Given the description of an element on the screen output the (x, y) to click on. 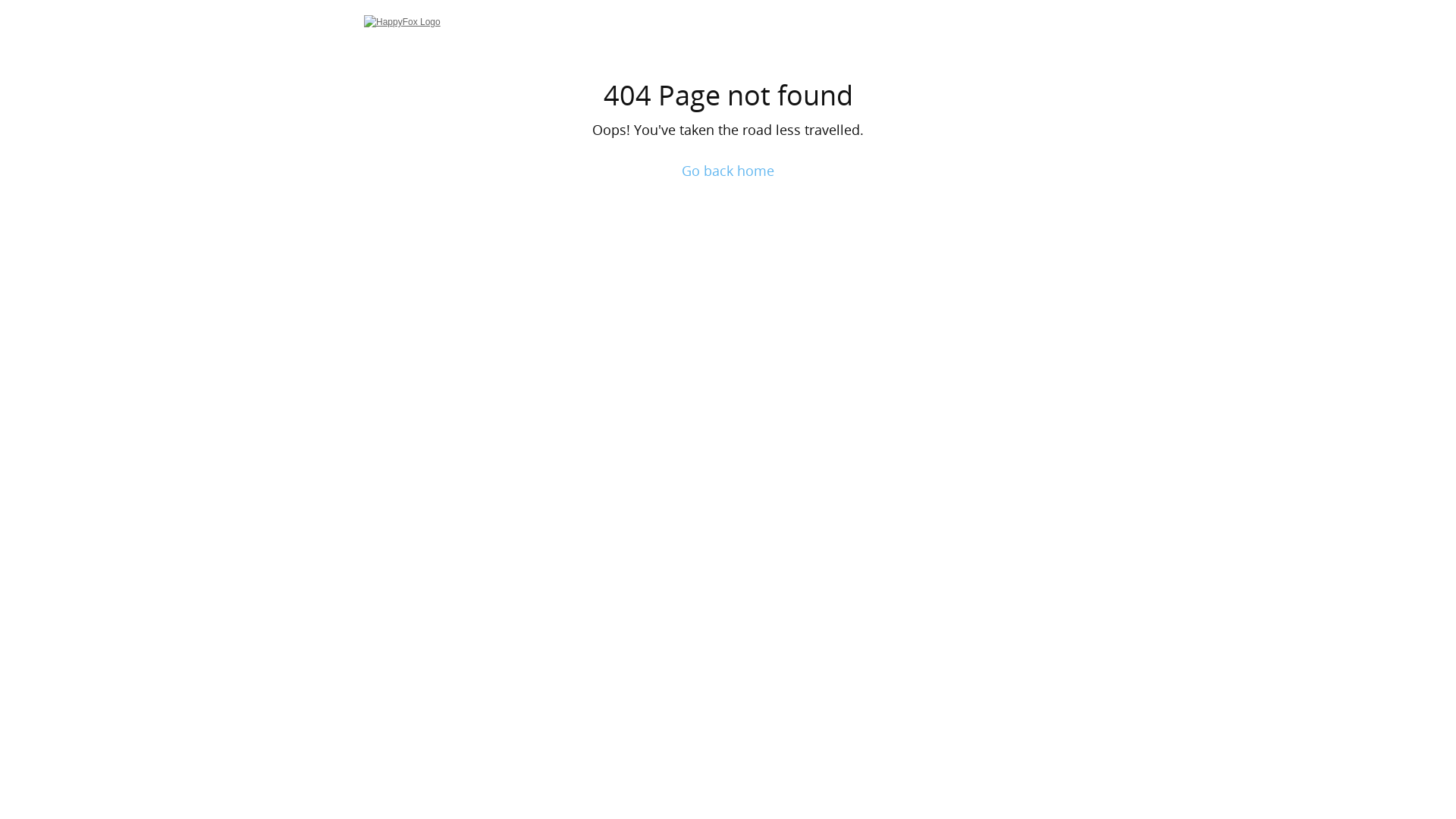
Go back home Element type: text (727, 170)
